Given the description of an element on the screen output the (x, y) to click on. 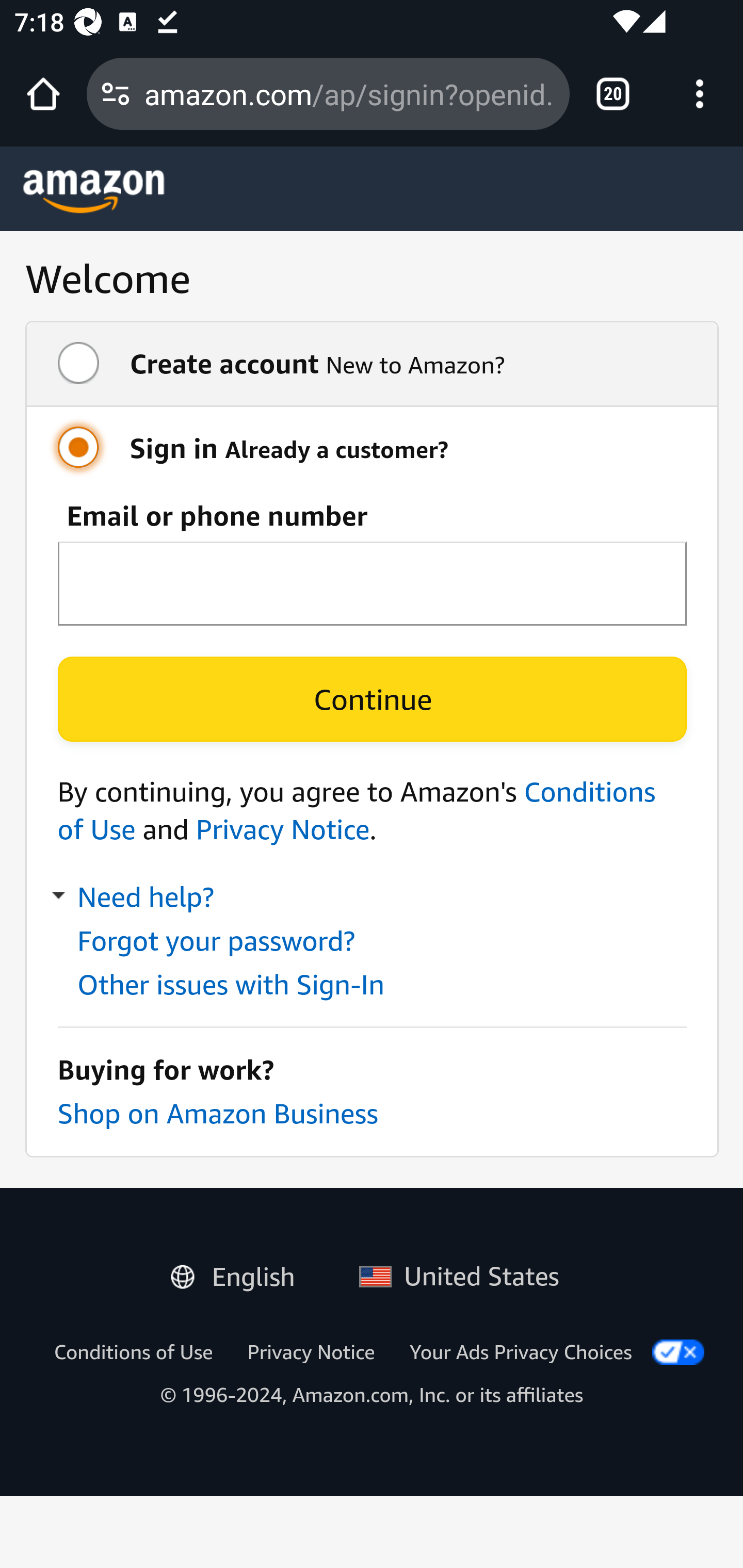
Open the home page (43, 93)
Connection is secure (115, 93)
Switch or close tabs (612, 93)
Customize and control Google Chrome (699, 93)
Amazon (94, 191)
Continue (371, 698)
Conditions of Use (356, 810)
Privacy Notice (282, 829)
Need help? (134, 897)
Forgot your password? (215, 940)
Other issues with Sign-In (230, 984)
Shop on Amazon Business (216, 1113)
Choose a language for shopping. English (239, 1271)
Conditions of Use (132, 1351)
Privacy Notice (310, 1351)
Your Ads Privacy Choices (520, 1351)
